Given the description of an element on the screen output the (x, y) to click on. 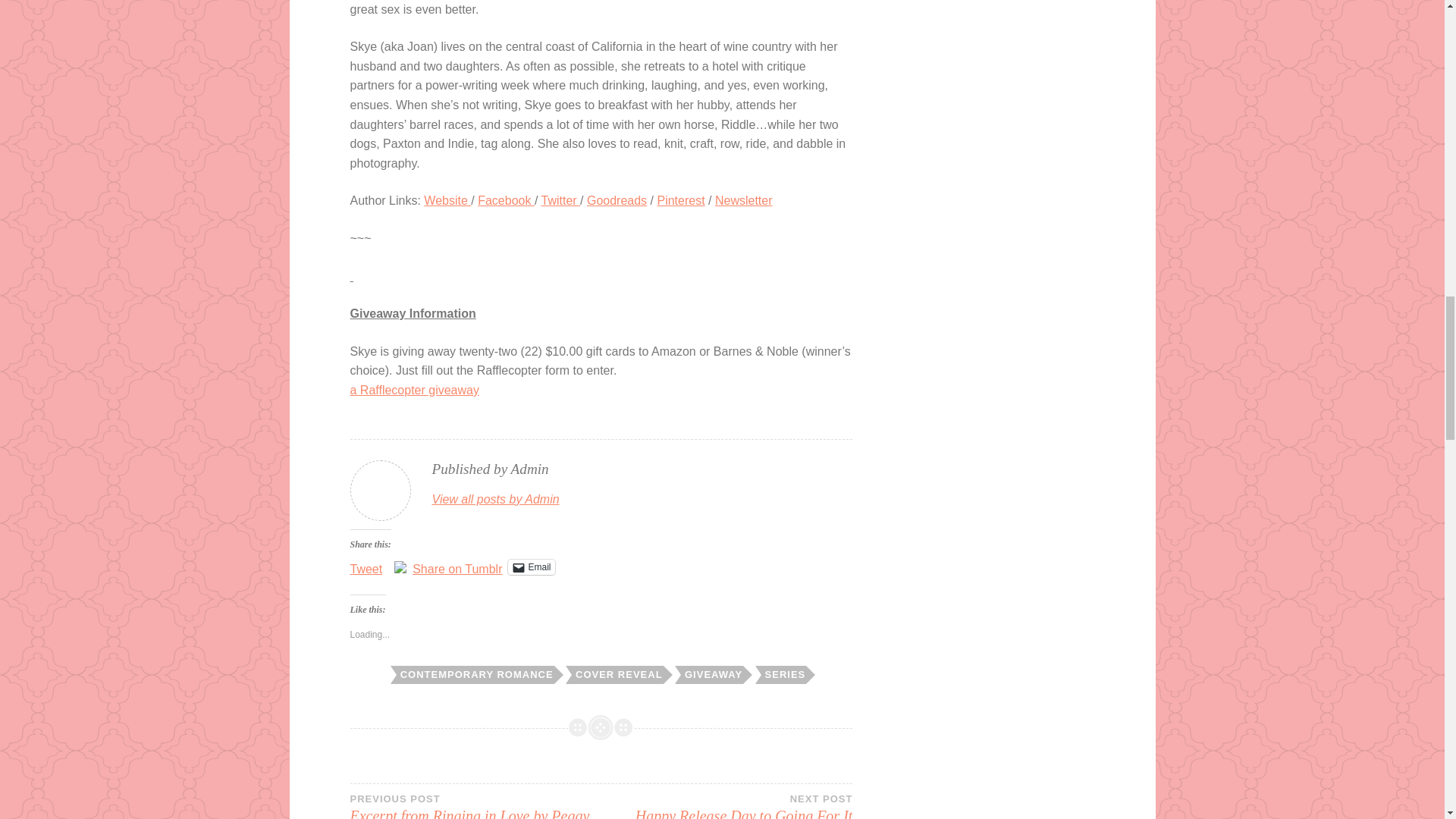
Share on Tumblr (457, 566)
a Rafflecopter giveaway (414, 390)
Goodreads (616, 200)
Newsletter (743, 200)
Tweet (366, 566)
Twitter (560, 200)
COVER REVEAL (617, 674)
CONTEMPORARY ROMANCE (475, 674)
View all posts by Admin (495, 499)
Email (531, 566)
